Given the description of an element on the screen output the (x, y) to click on. 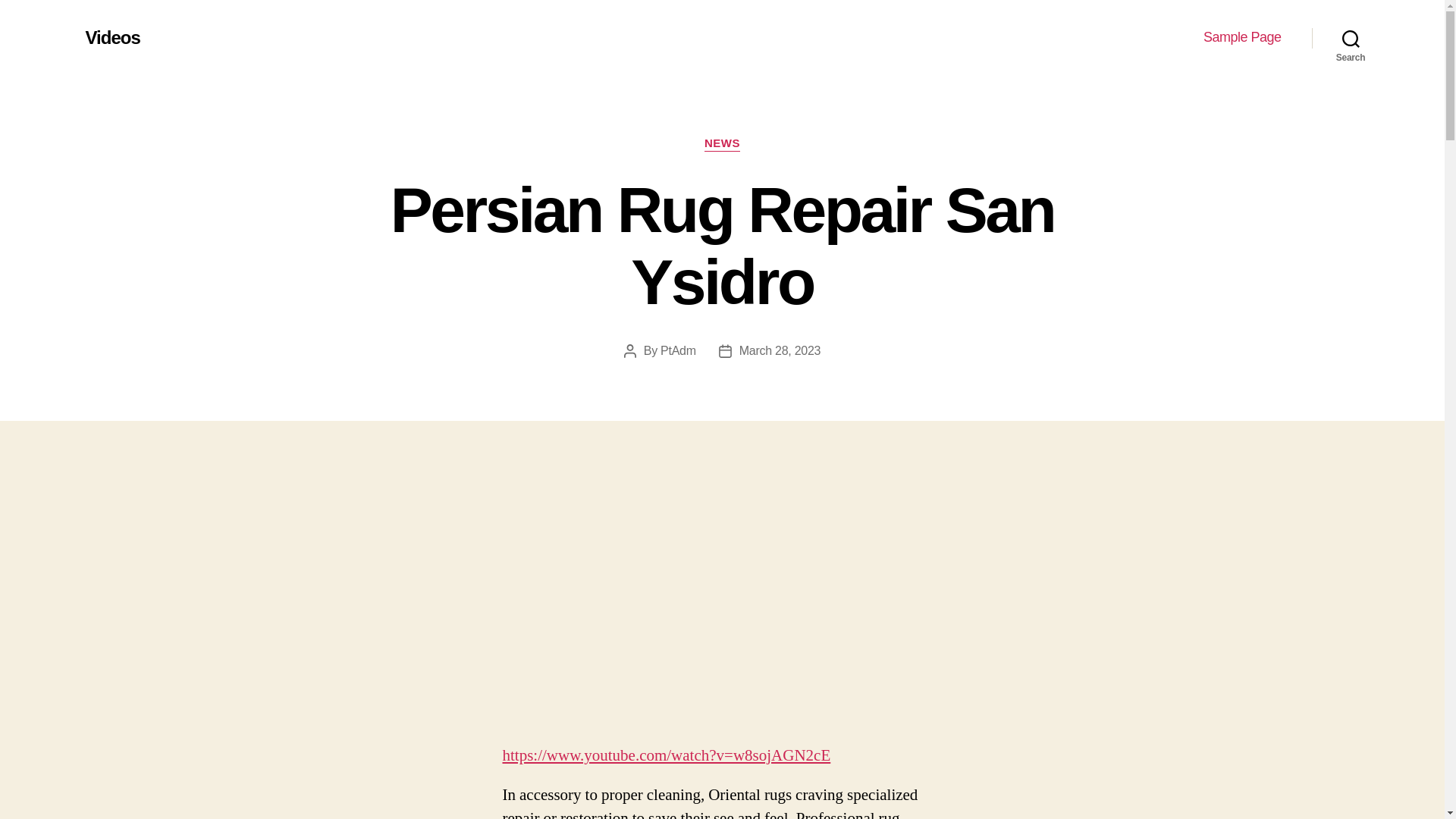
NEWS (721, 143)
PtAdm (678, 350)
YouTube video player (722, 604)
Sample Page (1242, 37)
March 28, 2023 (780, 350)
Videos (111, 37)
Search (1350, 37)
